Given the description of an element on the screen output the (x, y) to click on. 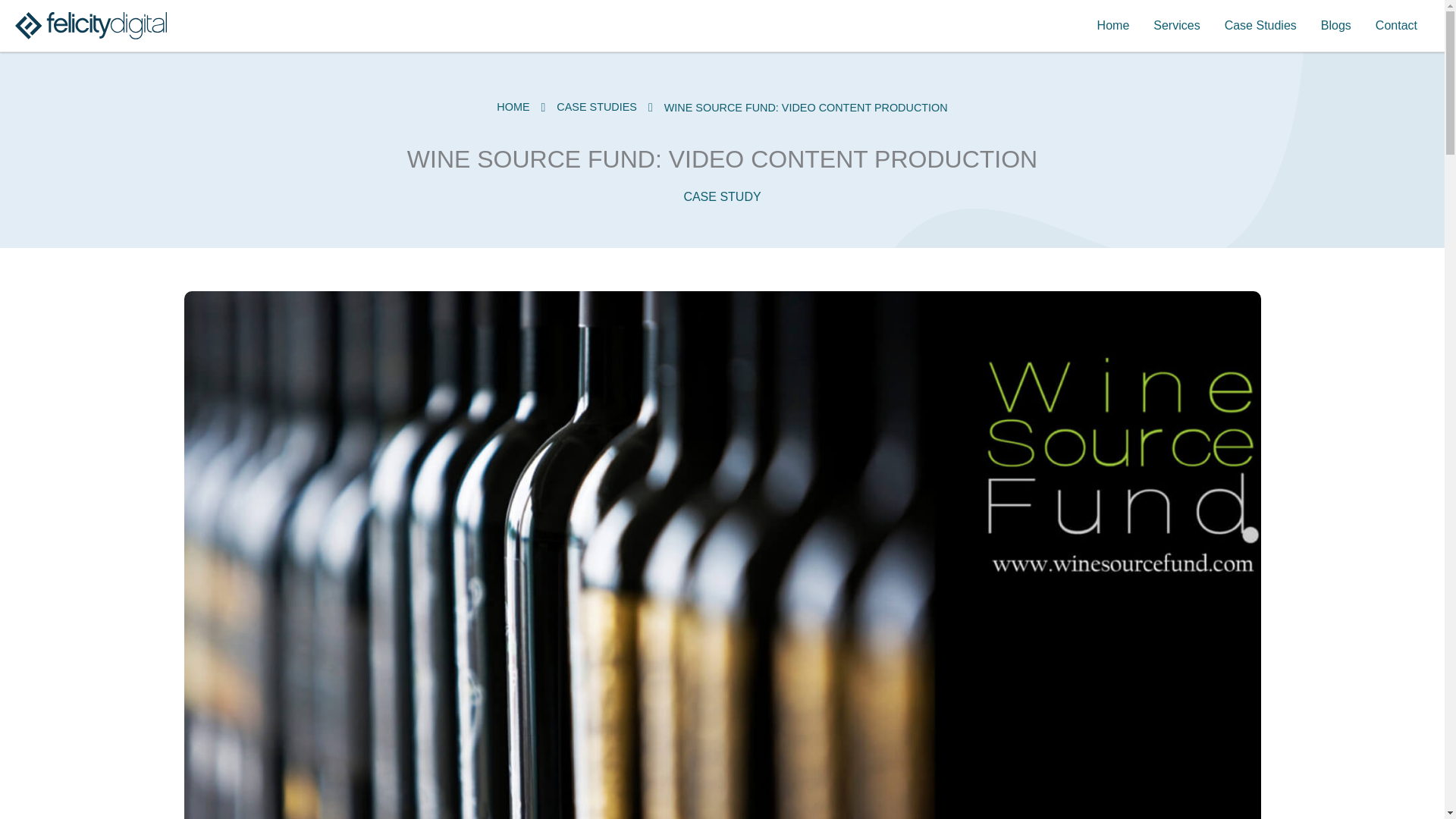
Home (1112, 25)
Case Studies (1260, 25)
Services (1176, 25)
CASE STUDIES (606, 106)
Contact (1395, 25)
Blogs (1335, 25)
HOME (522, 106)
